Given the description of an element on the screen output the (x, y) to click on. 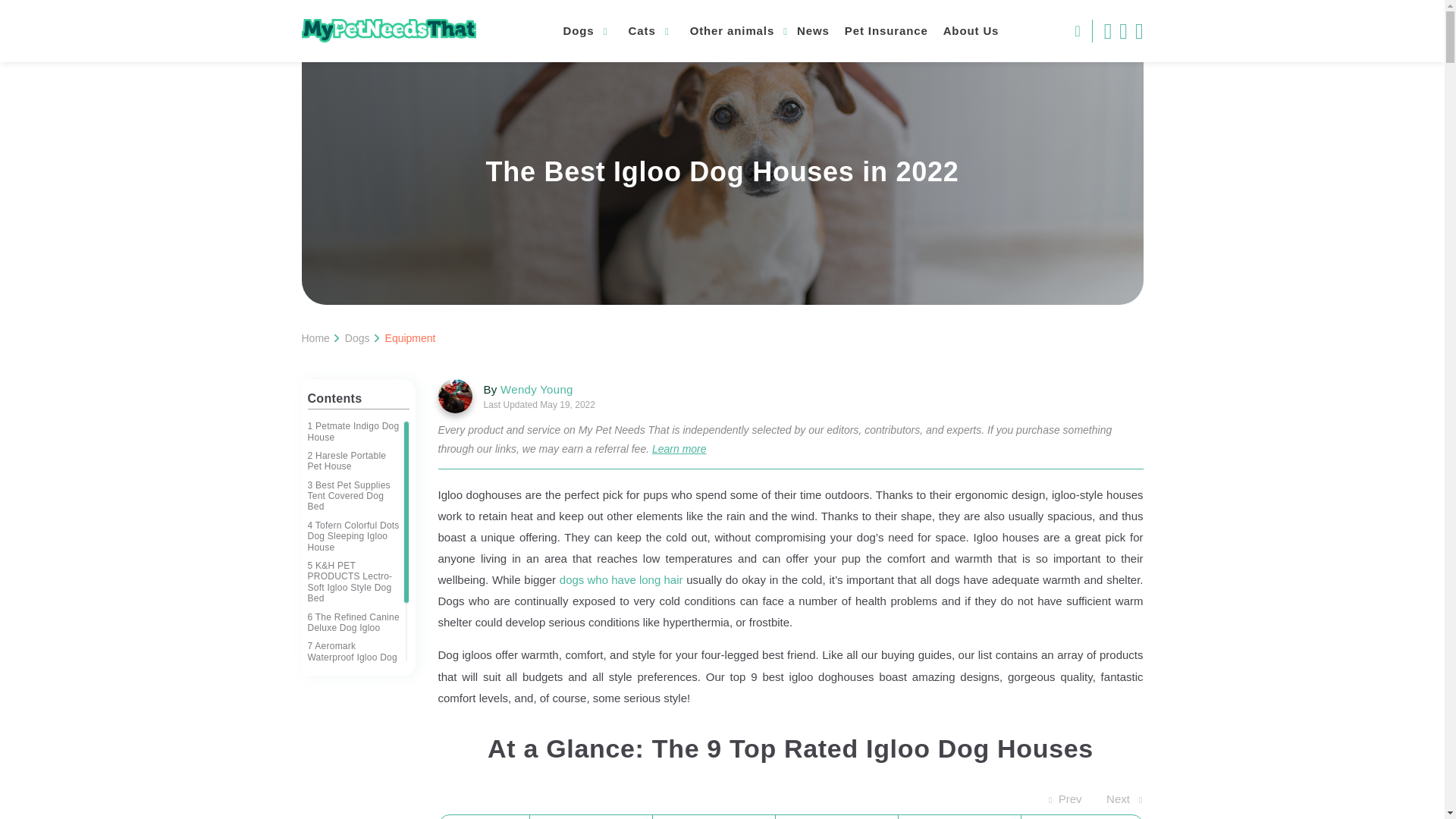
Cats (647, 30)
Dogs (584, 30)
2 Haresle Portable Pet House (353, 461)
Dogs (357, 338)
About Us (970, 30)
Pet Insurance (886, 30)
4 Tofern Colorful Dots Dog Sleeping Igloo House (353, 536)
News (812, 30)
3 Best Pet Supplies Tent Covered Dog Bed (353, 495)
Home (315, 338)
Other animals (737, 30)
1 Petmate Indigo Dog House (353, 431)
6 The Refined Canine Deluxe Dog Igloo (353, 622)
